Given the description of an element on the screen output the (x, y) to click on. 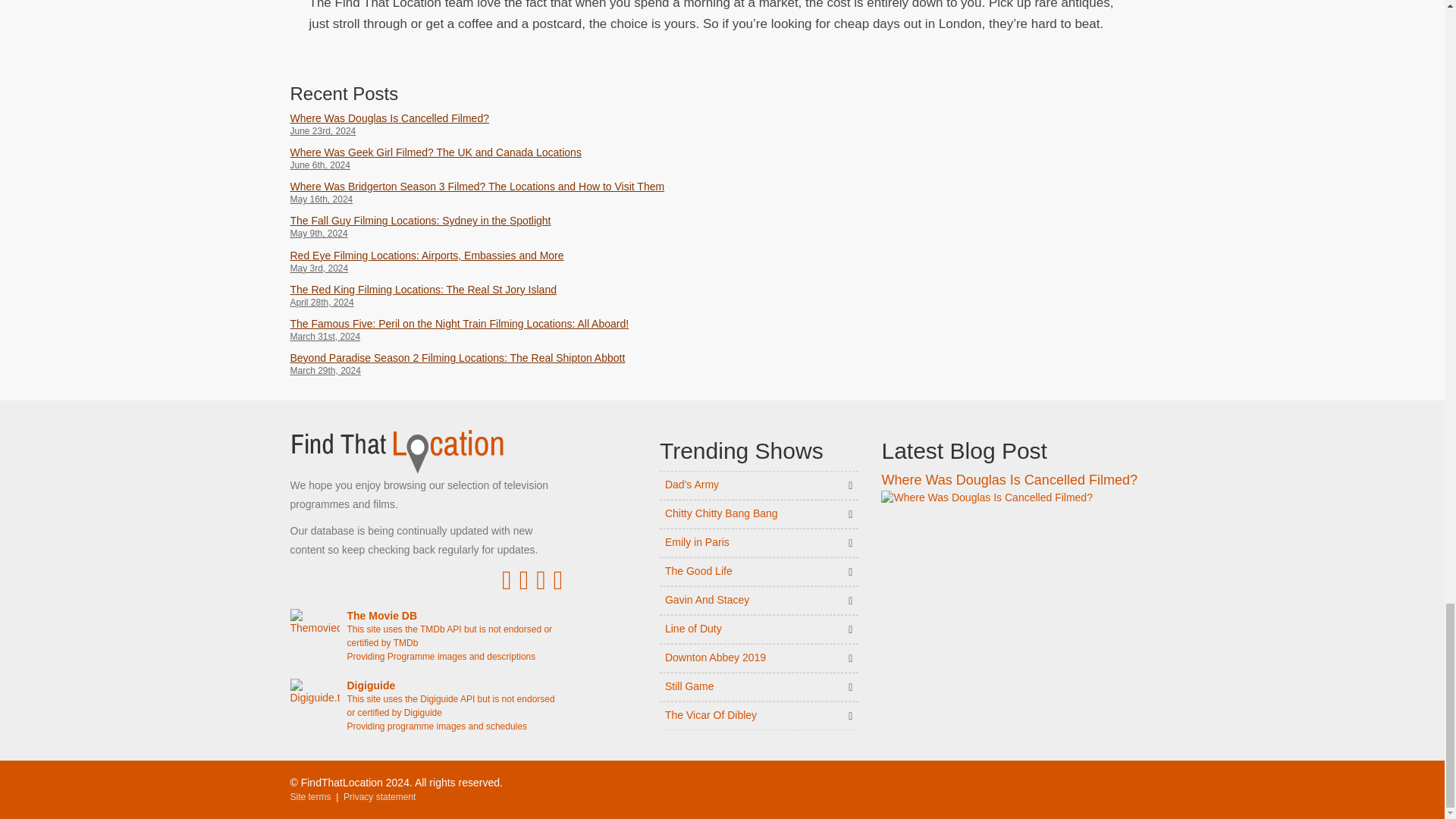
June 23rd, 2024 (499, 131)
Where Was Geek Girl Filmed? The UK and Canada Locations (434, 152)
Where Was Douglas Is Cancelled Filmed? (388, 118)
Where Was Douglas Is Cancelled Filmed? (986, 497)
The Movie DB (425, 636)
Digiguide (425, 705)
